Given the description of an element on the screen output the (x, y) to click on. 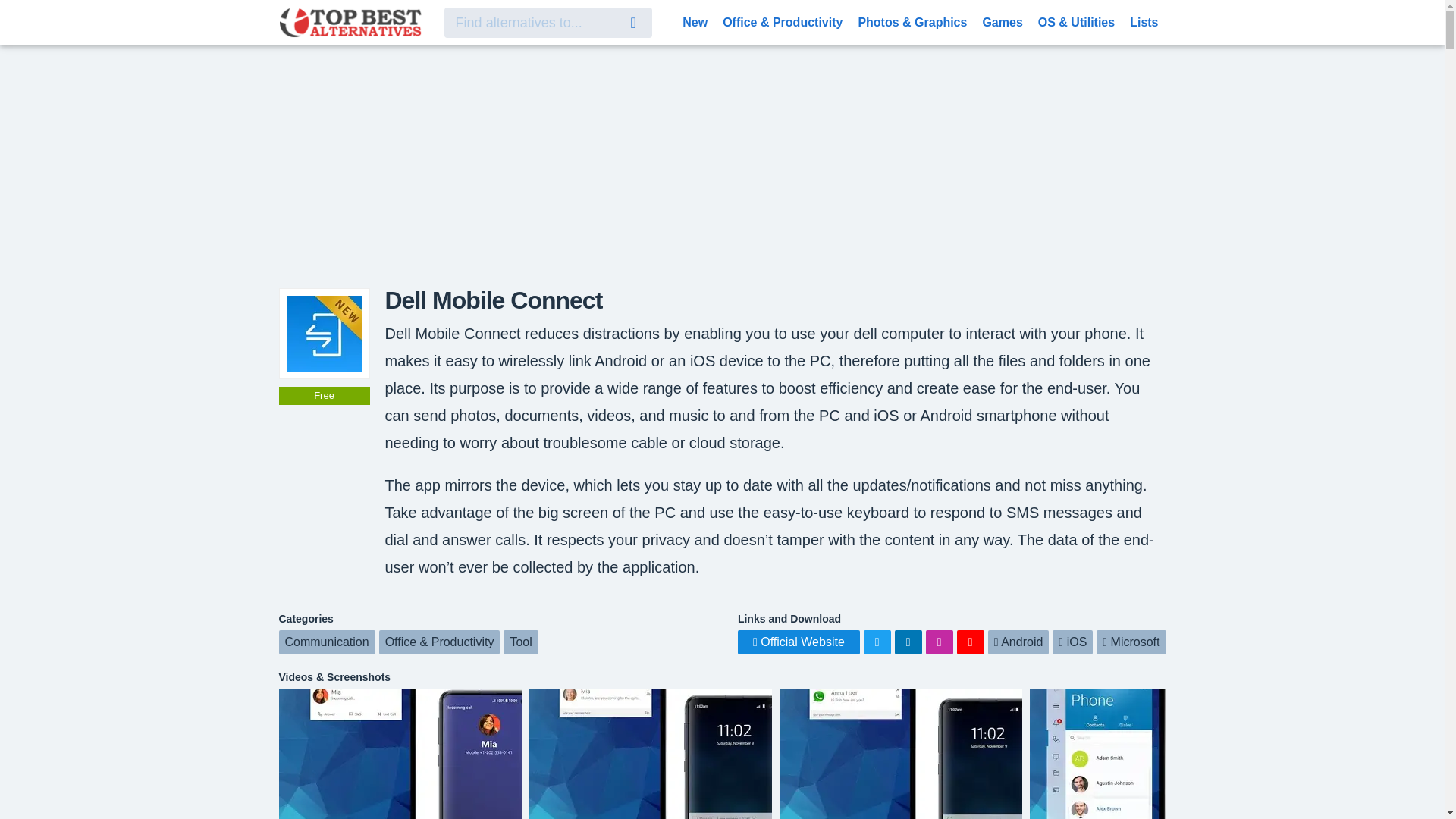
Lists (1144, 21)
Linkedin (908, 641)
Official Website (799, 641)
Android (1018, 641)
Android (1018, 641)
Twitter (877, 641)
Microsoft (1131, 641)
Tool (520, 641)
iOS (1072, 641)
Games (1001, 21)
Communication (327, 641)
Youtube (970, 641)
New (694, 21)
Instagram (939, 641)
Microsoft (1131, 641)
